Given the description of an element on the screen output the (x, y) to click on. 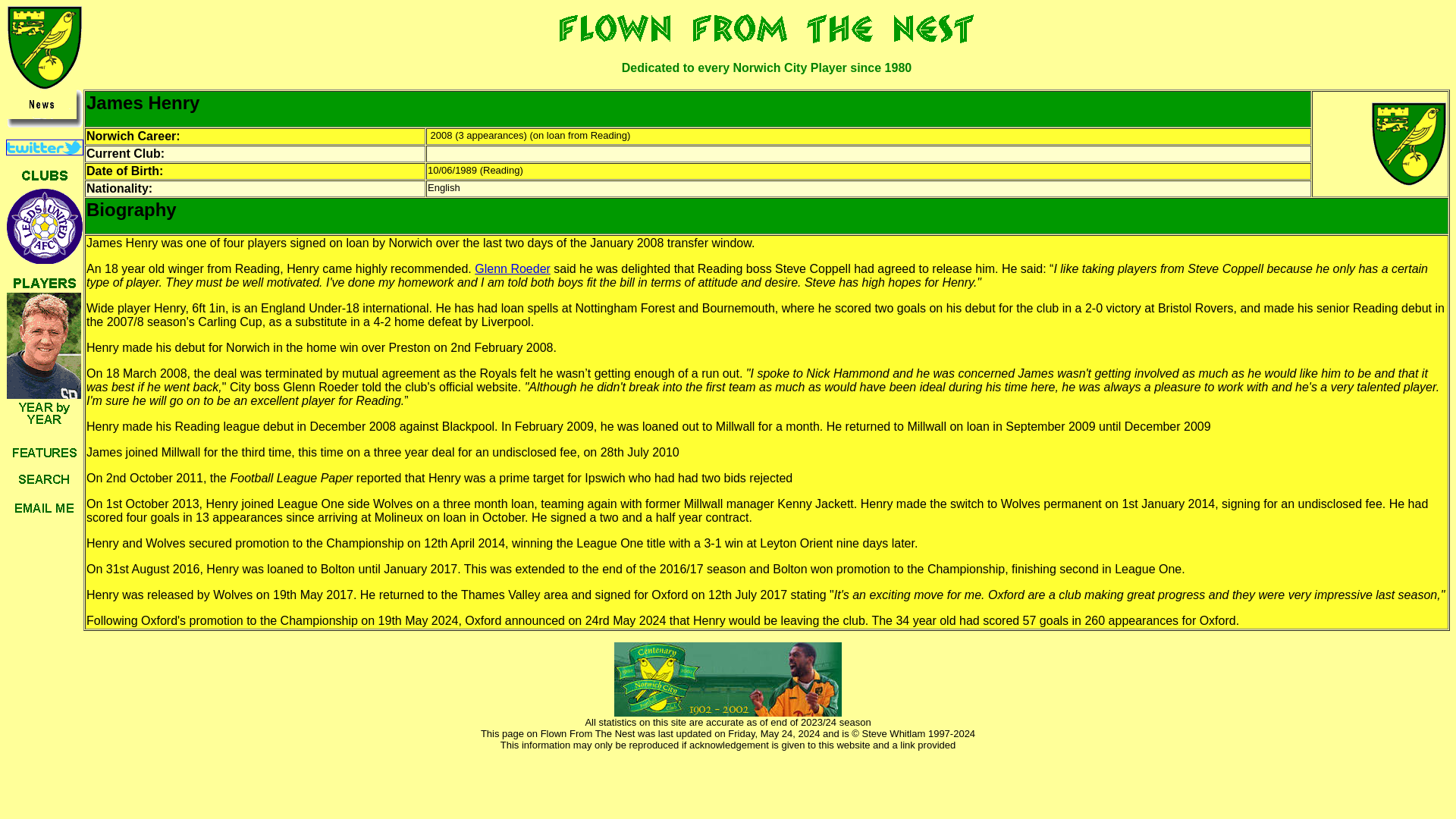
Glenn Roeder (512, 268)
